Given the description of an element on the screen output the (x, y) to click on. 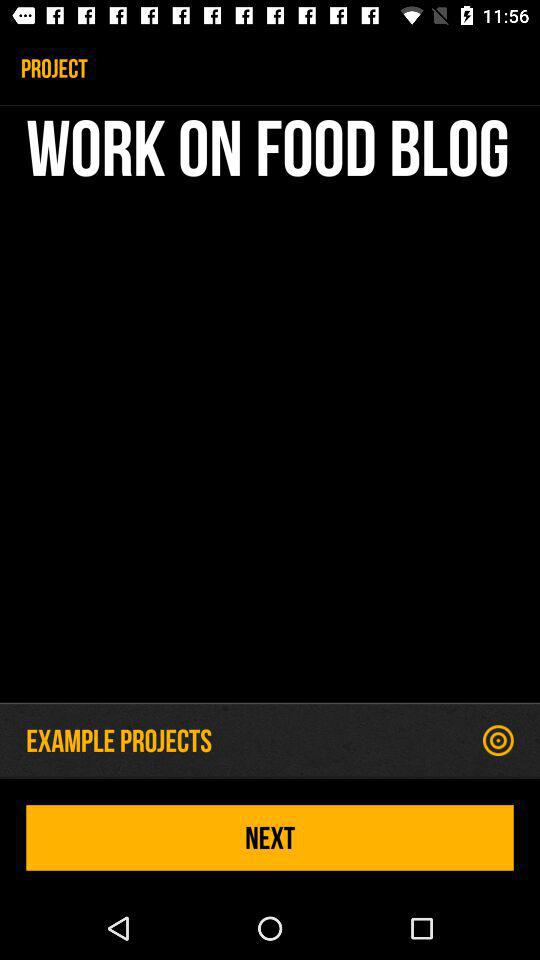
open next icon (269, 837)
